Given the description of an element on the screen output the (x, y) to click on. 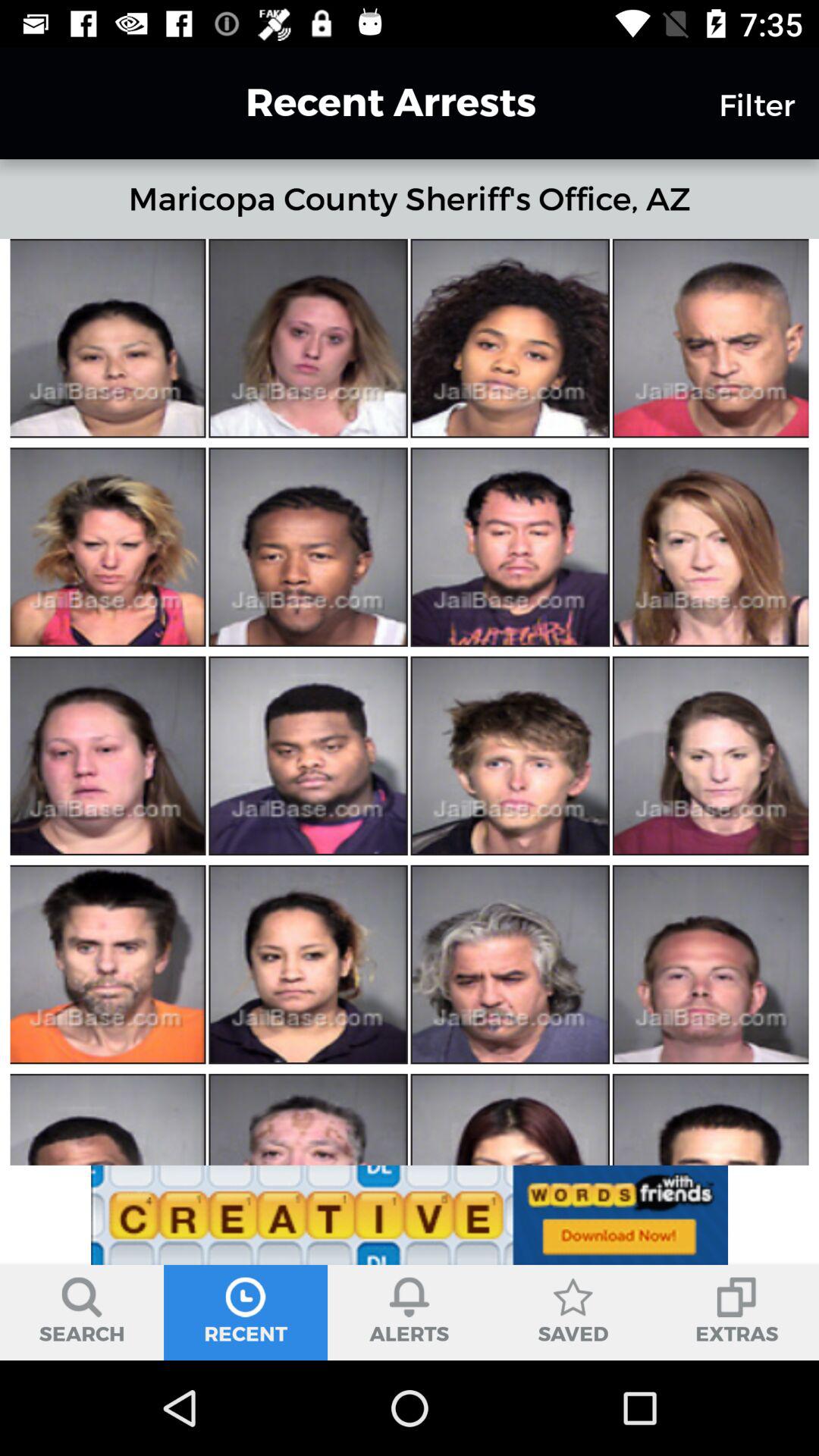
jump to the       recent arrests icon (363, 102)
